Given the description of an element on the screen output the (x, y) to click on. 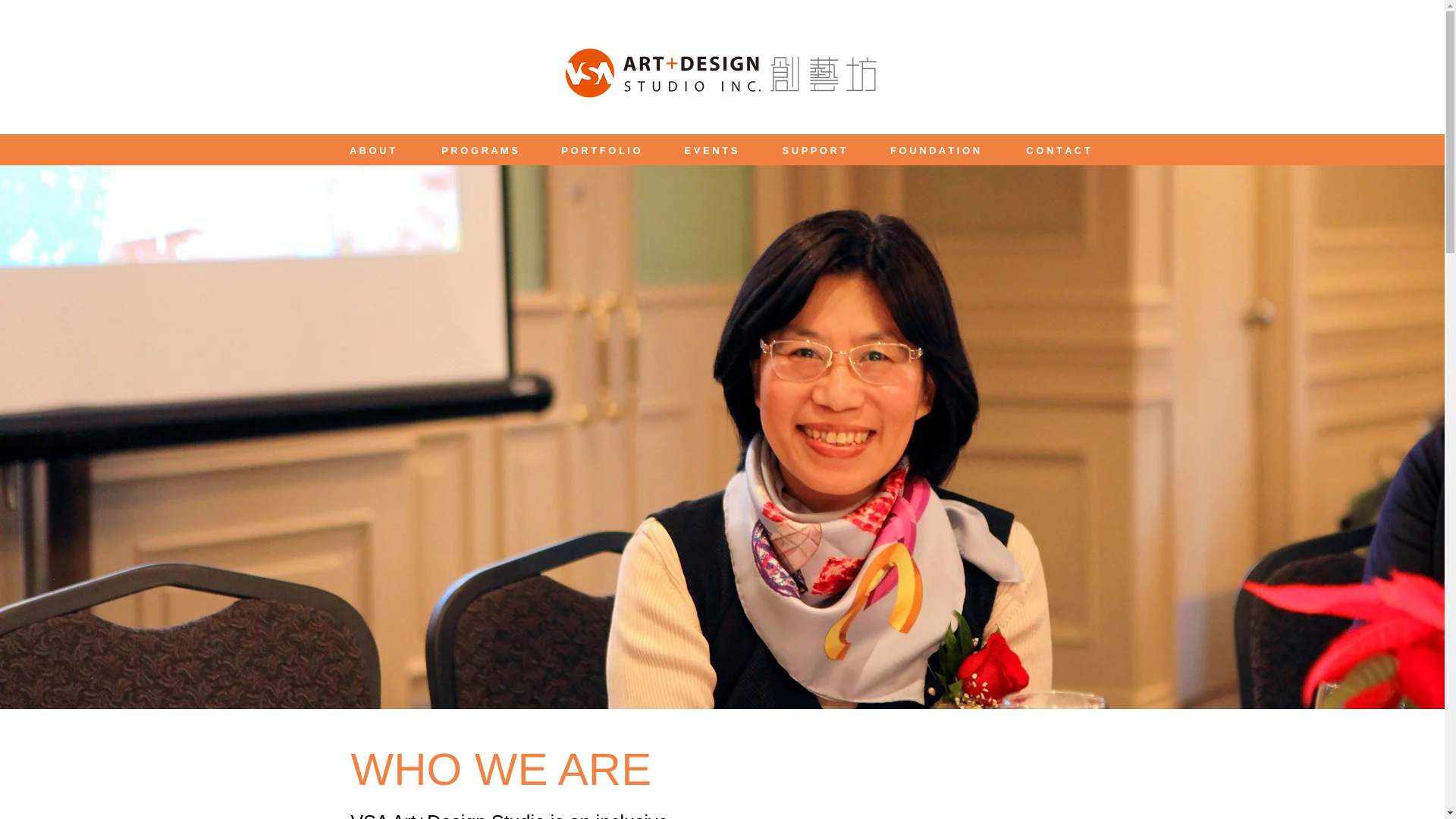
E V E N T S (710, 150)
F O U N D A T I O N (934, 150)
S U P P O R T (813, 150)
C O N T A C T (1058, 150)
P R O G R A M S (479, 150)
A B O U T (371, 150)
P O R T F O L I O (600, 150)
